Given the description of an element on the screen output the (x, y) to click on. 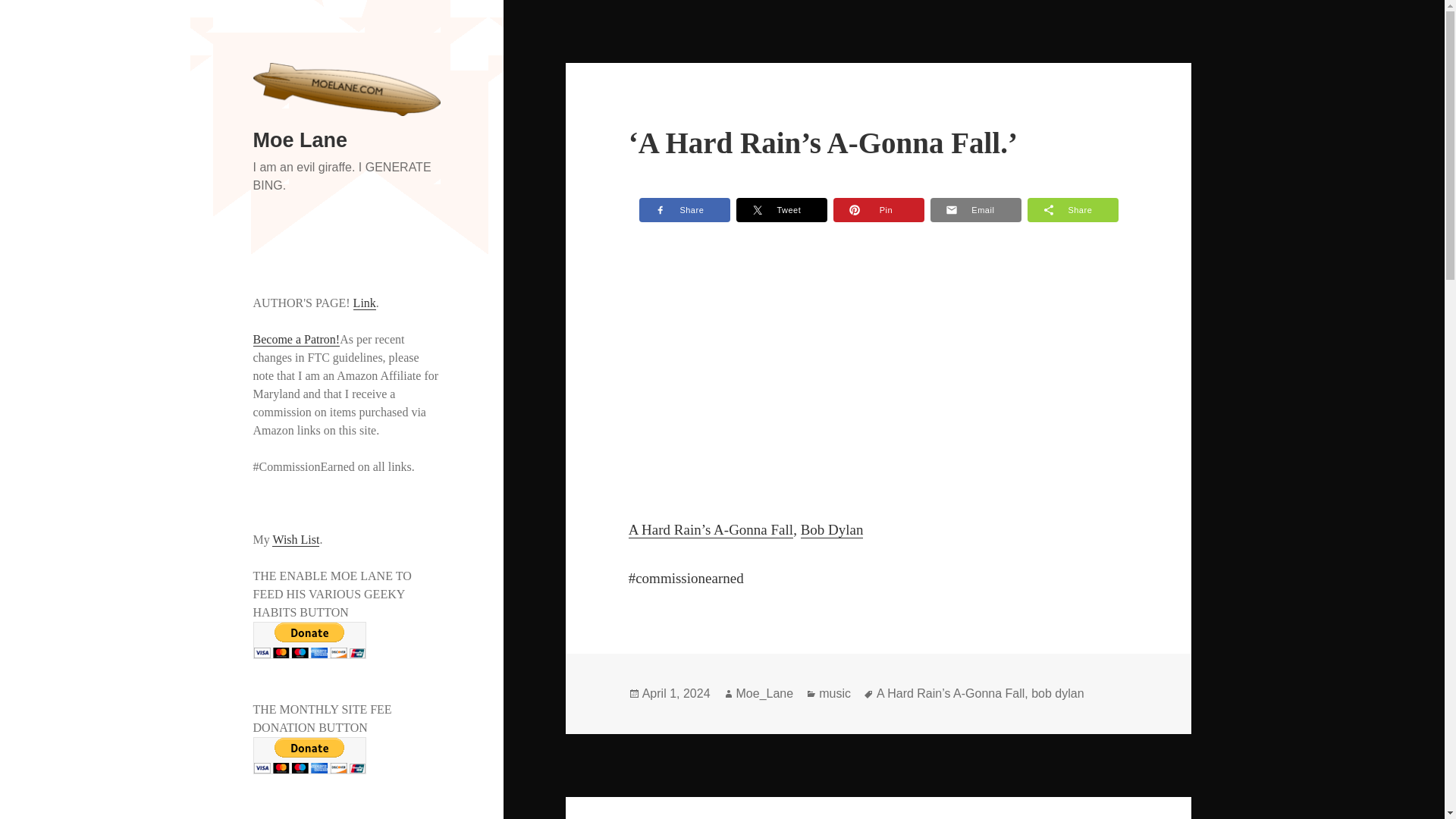
Moe Lane (300, 139)
Link (364, 303)
April 1, 2024 (676, 694)
Wish List (295, 540)
music (834, 694)
Become a Patron! (296, 339)
Bob Dylan (831, 529)
bob dylan (1056, 694)
